Given the description of an element on the screen output the (x, y) to click on. 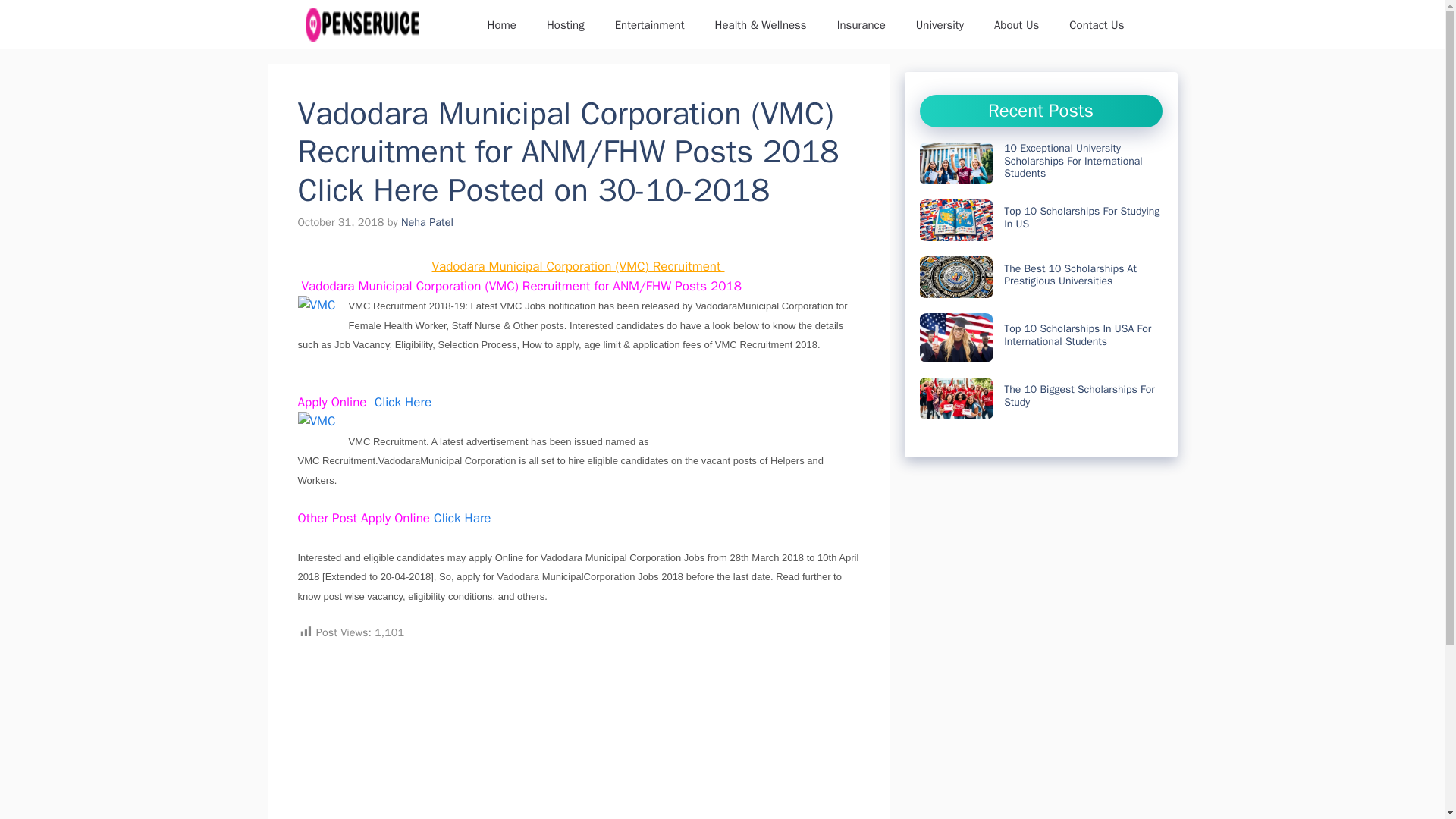
About Us (1016, 23)
Contact Us (1096, 23)
Neha Patel (426, 222)
Top 10 Scholarships In USA For International Students (1077, 335)
Home (501, 23)
Hosting (565, 23)
Click Hare (461, 518)
Open Service (361, 24)
Entertainment (649, 23)
View all posts by Neha Patel (426, 222)
Click Here  (404, 401)
Insurance (861, 23)
The Best 10 Scholarships At Prestigious Universities (1070, 275)
The 10 Biggest Scholarships For Study (1079, 395)
